Given the description of an element on the screen output the (x, y) to click on. 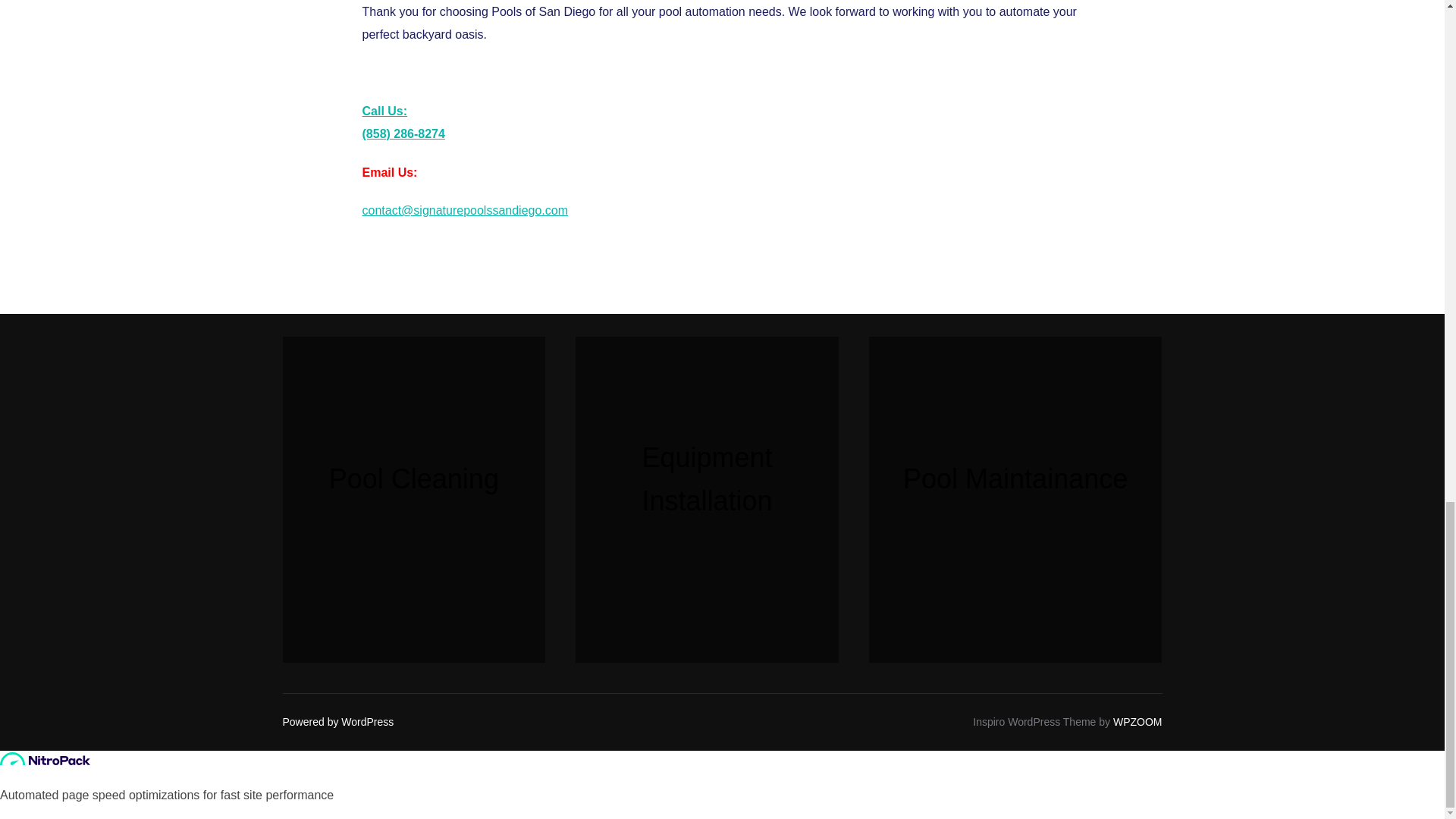
Powered by WordPress (337, 721)
WPZOOM (1137, 721)
